Given the description of an element on the screen output the (x, y) to click on. 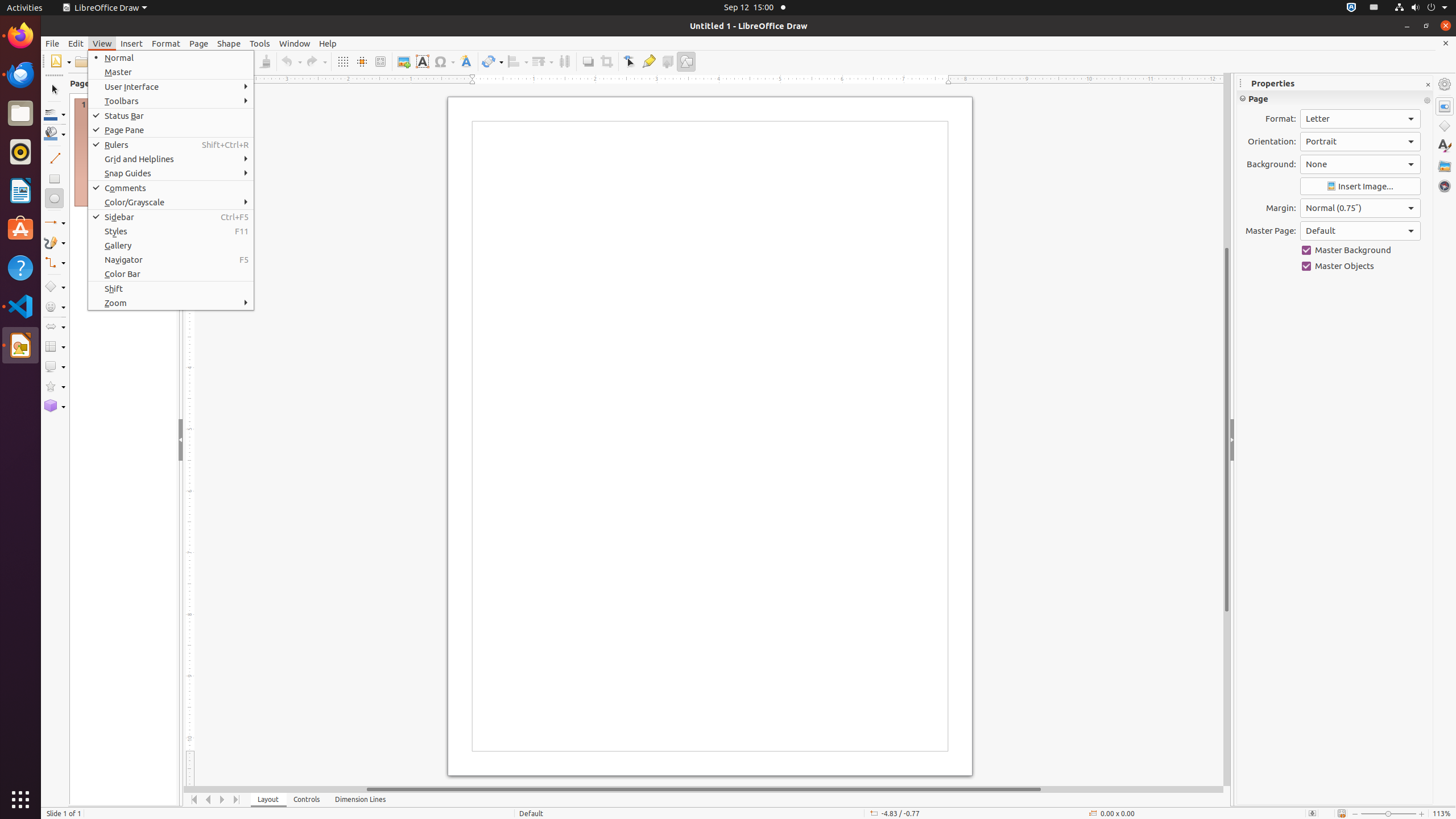
Thunderbird Mail Element type: push-button (20, 74)
Clone Element type: push-button (264, 61)
Status Bar Element type: check-menu-item (170, 115)
User Interface Element type: menu (170, 86)
Shape Element type: menu (228, 43)
